Given the description of an element on the screen output the (x, y) to click on. 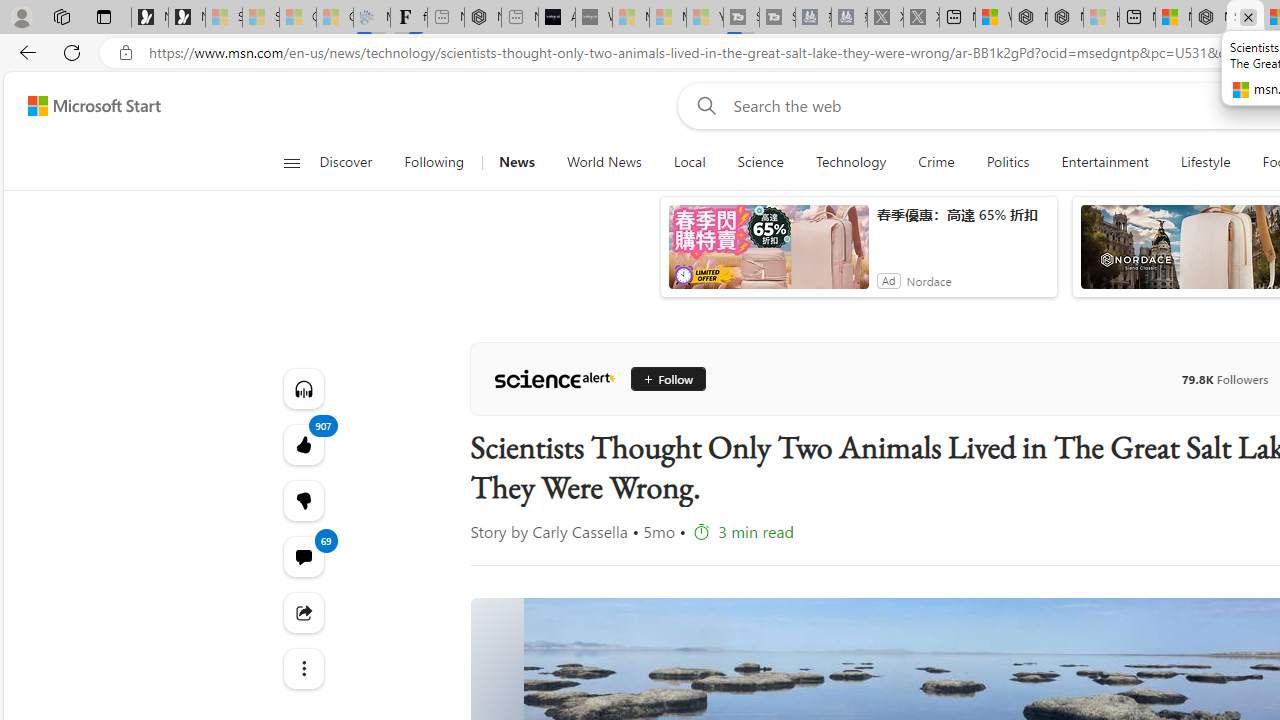
Science (760, 162)
